Given the description of an element on the screen output the (x, y) to click on. 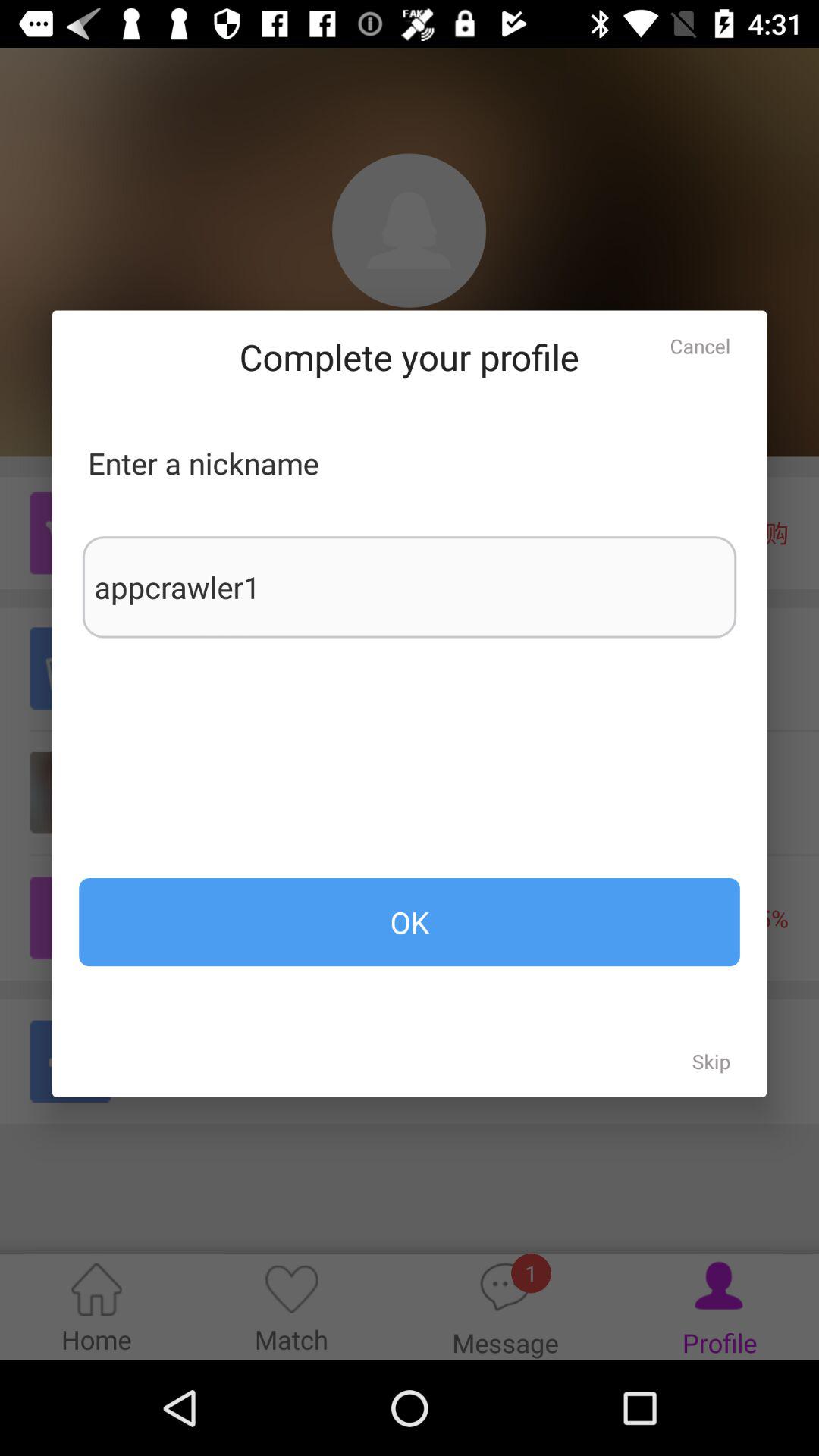
turn on the appcrawler1 icon (409, 587)
